Given the description of an element on the screen output the (x, y) to click on. 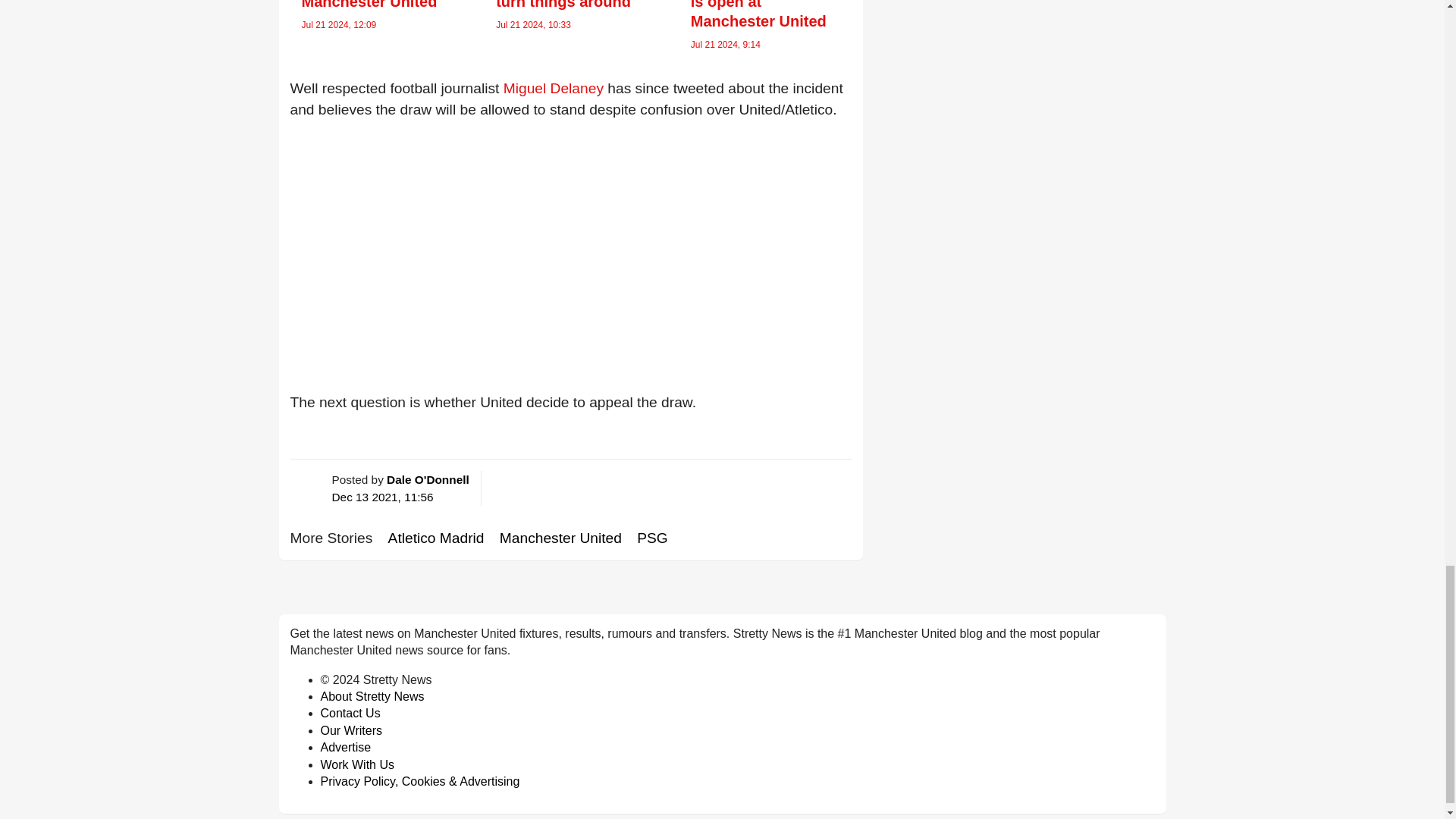
Jul 21 2024, 9:14 (725, 44)
Miguel Delaney (553, 88)
Jul 21 2024, 10:33 (533, 24)
Jul 21 2024, 12:09 (339, 24)
